Given the description of an element on the screen output the (x, y) to click on. 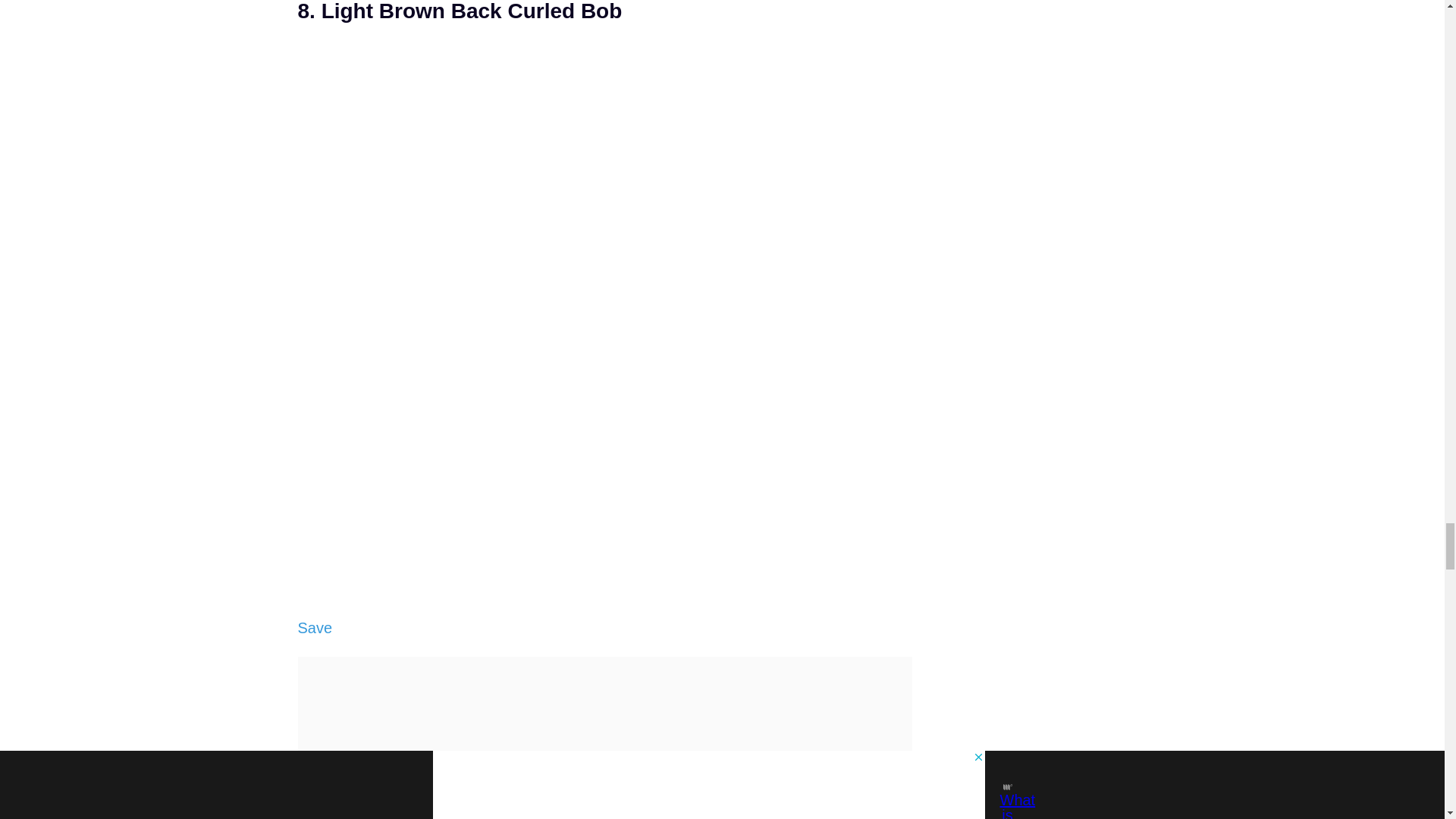
Save (314, 627)
